Given the description of an element on the screen output the (x, y) to click on. 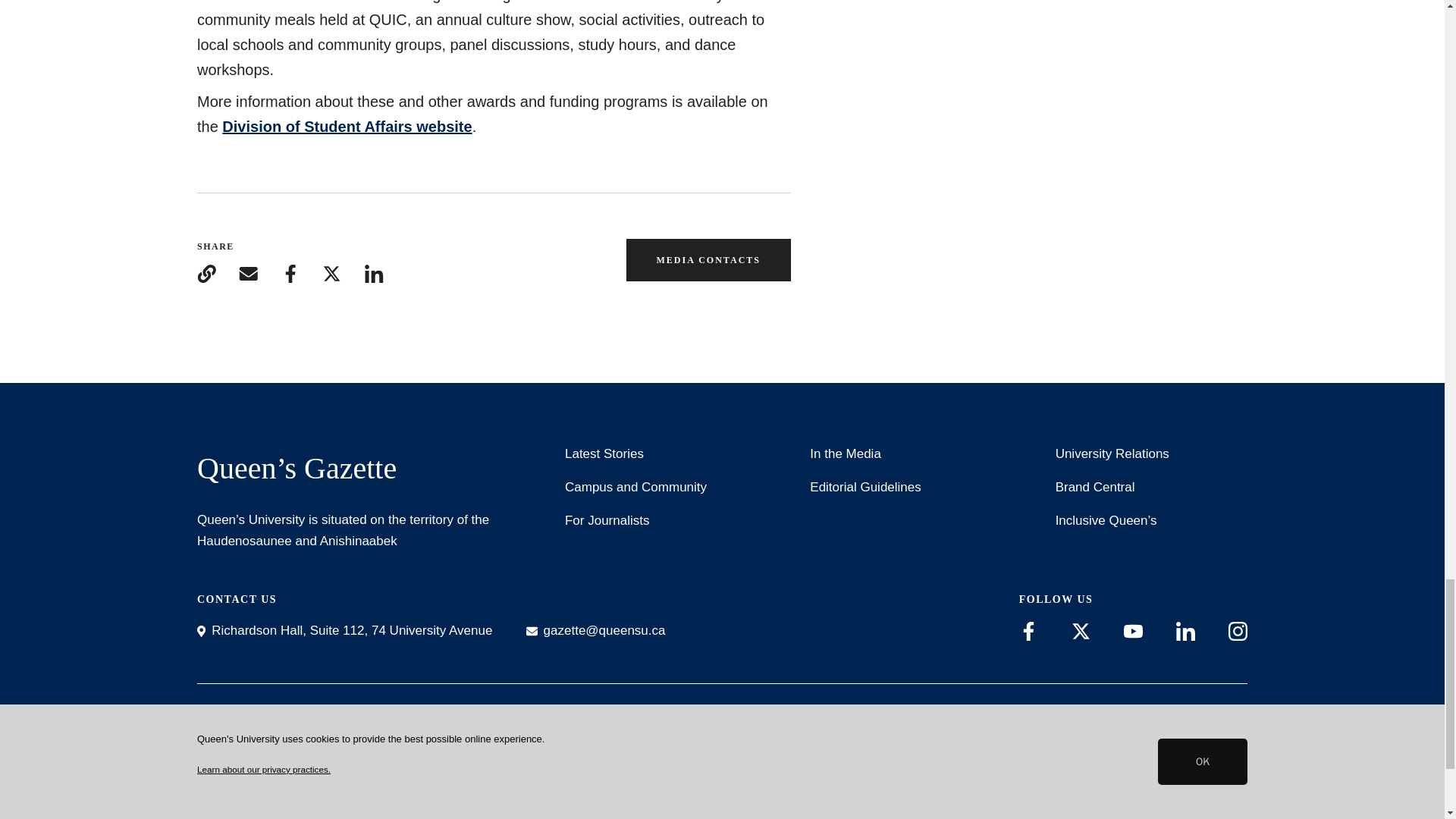
Copy link to clipboard (205, 273)
